Given the description of an element on the screen output the (x, y) to click on. 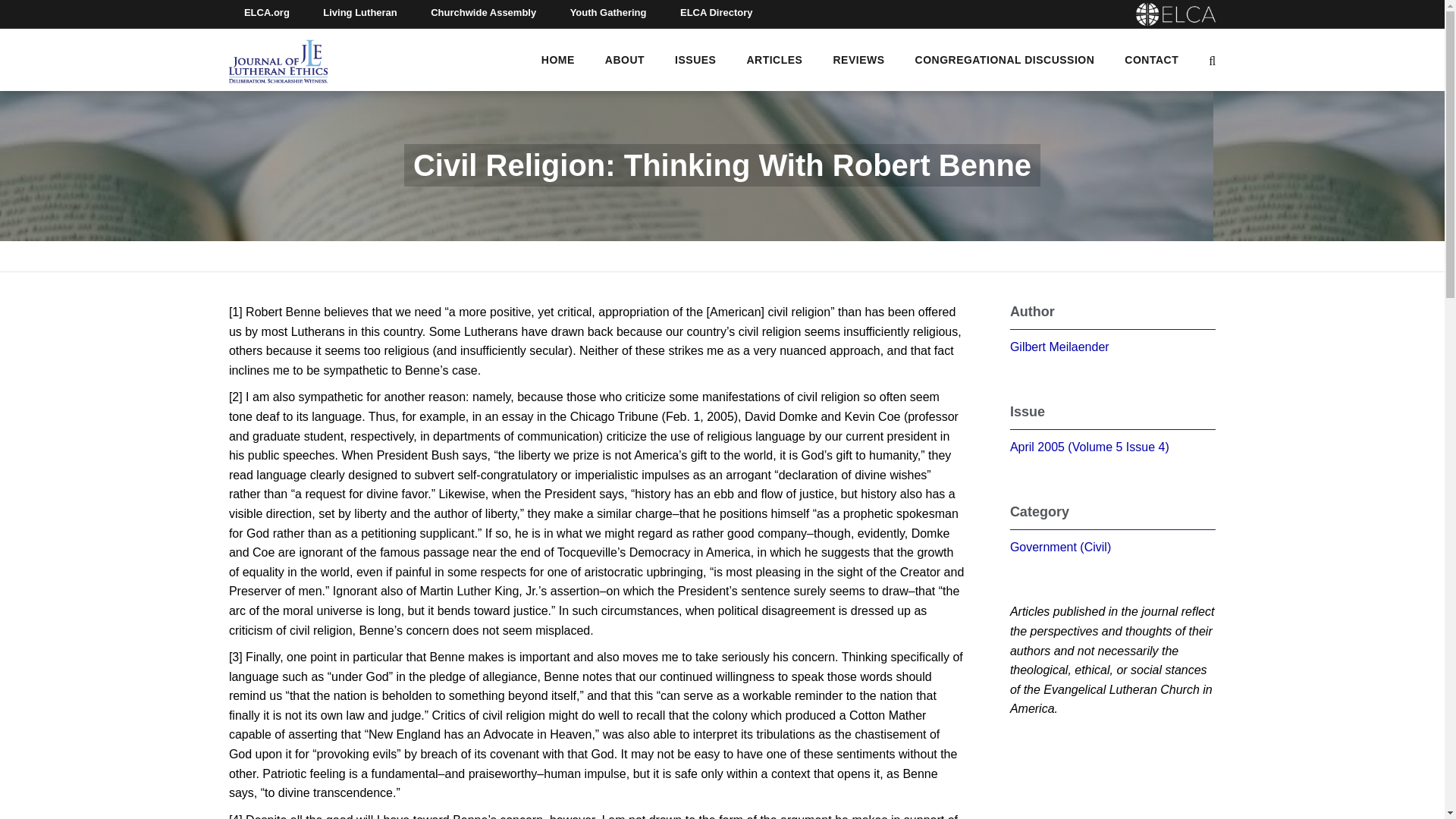
ELCA Directory (716, 14)
HOME (558, 59)
Churchwide Assembly (482, 14)
CONGREGATIONAL DISCUSSION (1004, 59)
ARTICLES (773, 59)
Youth Gathering (608, 14)
ISSUES (695, 59)
Living Lutheran (359, 14)
ELCA.org (266, 14)
ABOUT (625, 59)
